Given the description of an element on the screen output the (x, y) to click on. 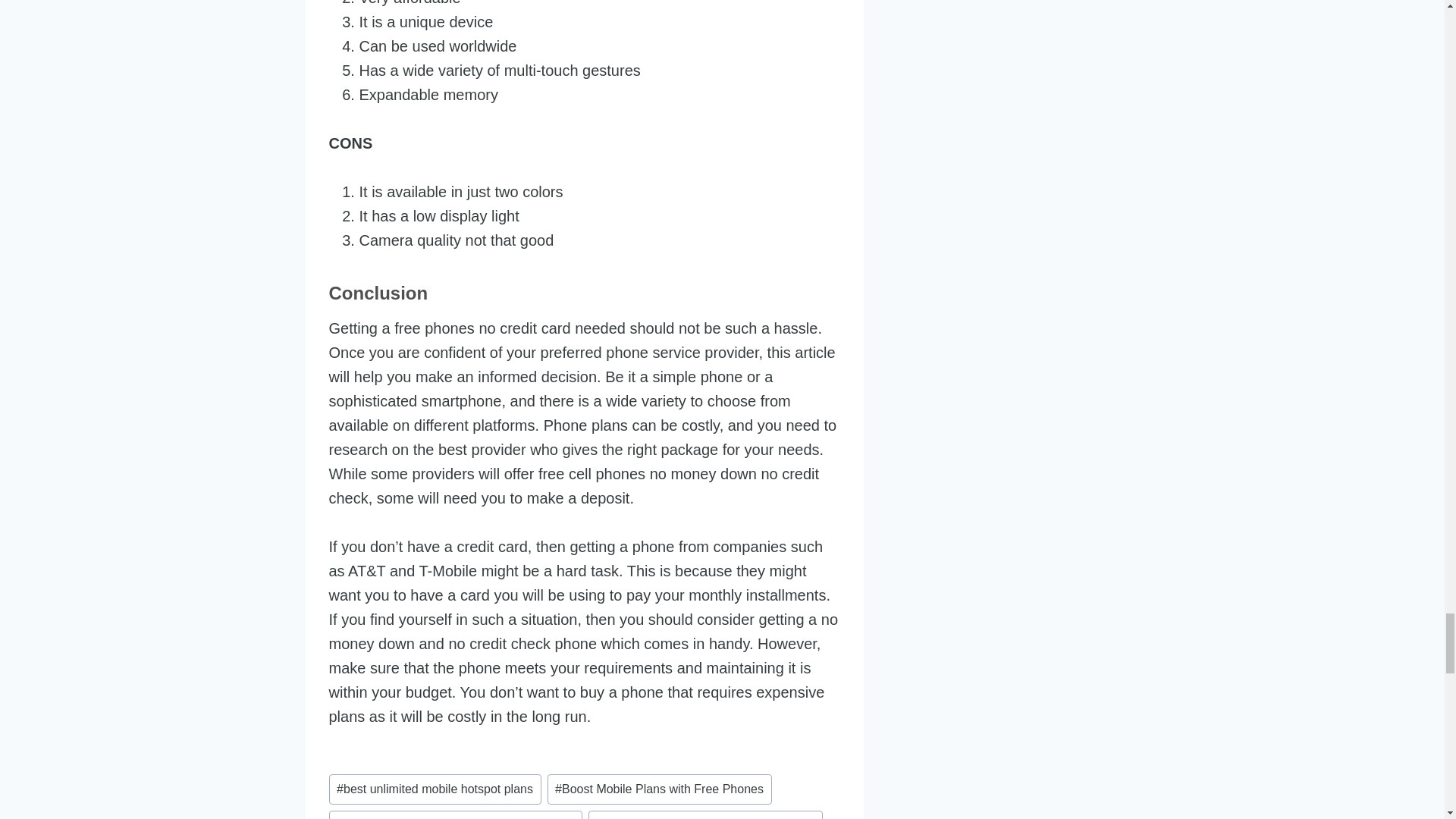
Boost Mobile Plans with Free Phones (659, 788)
free cell phone for seniors and disabled (705, 814)
contract phones no credit check no deposit (455, 814)
best unlimited mobile hotspot plans (435, 788)
